Given the description of an element on the screen output the (x, y) to click on. 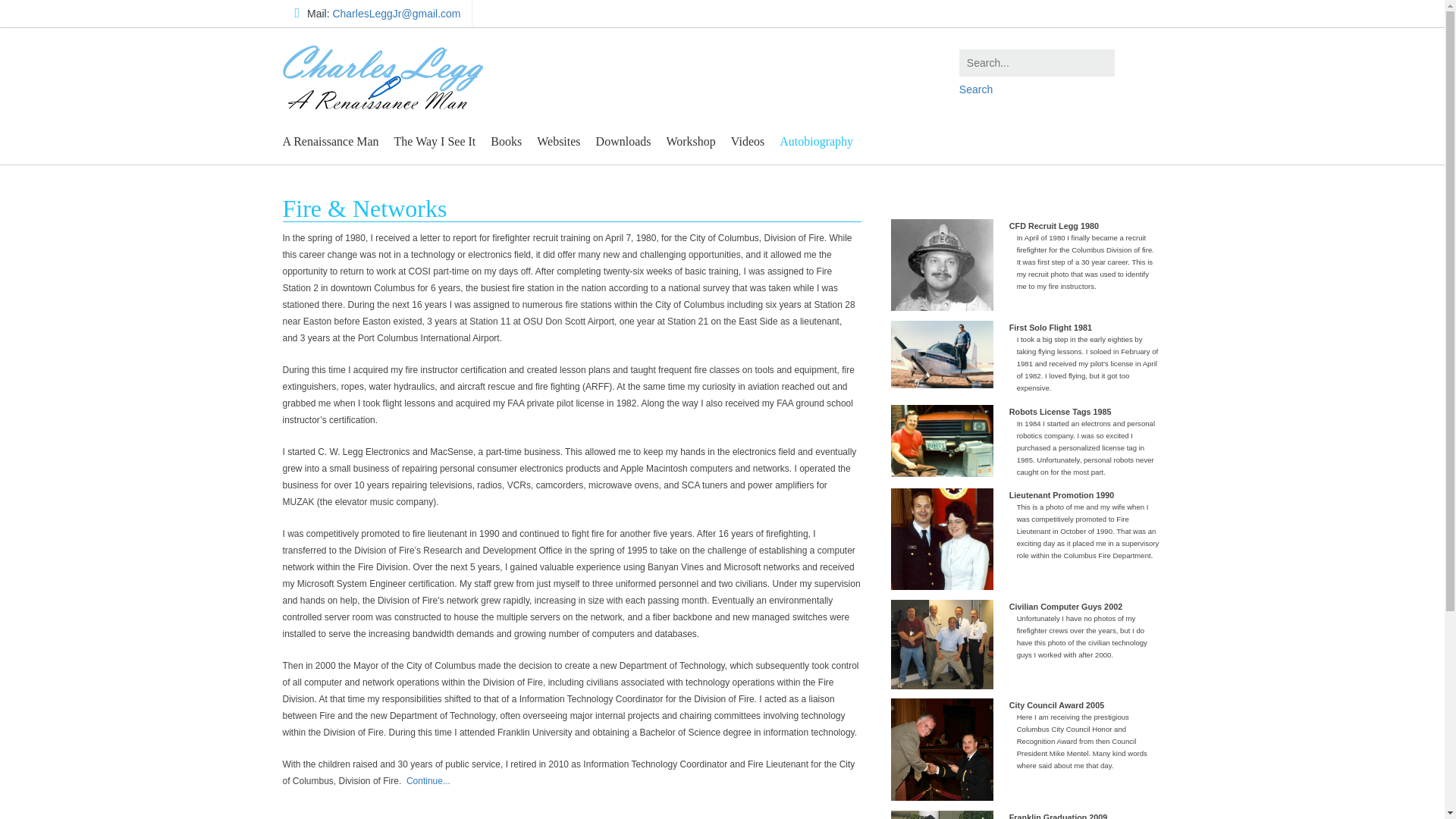
Charles Legg (381, 72)
Downloads (623, 141)
Videos (747, 141)
A Renaissance Man (330, 141)
Books (506, 141)
Websites (558, 141)
Civilian Computer Guys 2002 (941, 644)
Workshop (690, 141)
Robots License Tags 1985 (941, 440)
City Council Award 2005  (941, 749)
First Solo Flight 1981 (941, 354)
Lieutenant Promotion 1990 (941, 538)
Franklin Graduation 2009 (941, 814)
Continue... (427, 780)
Search (1060, 89)
